Given the description of an element on the screen output the (x, y) to click on. 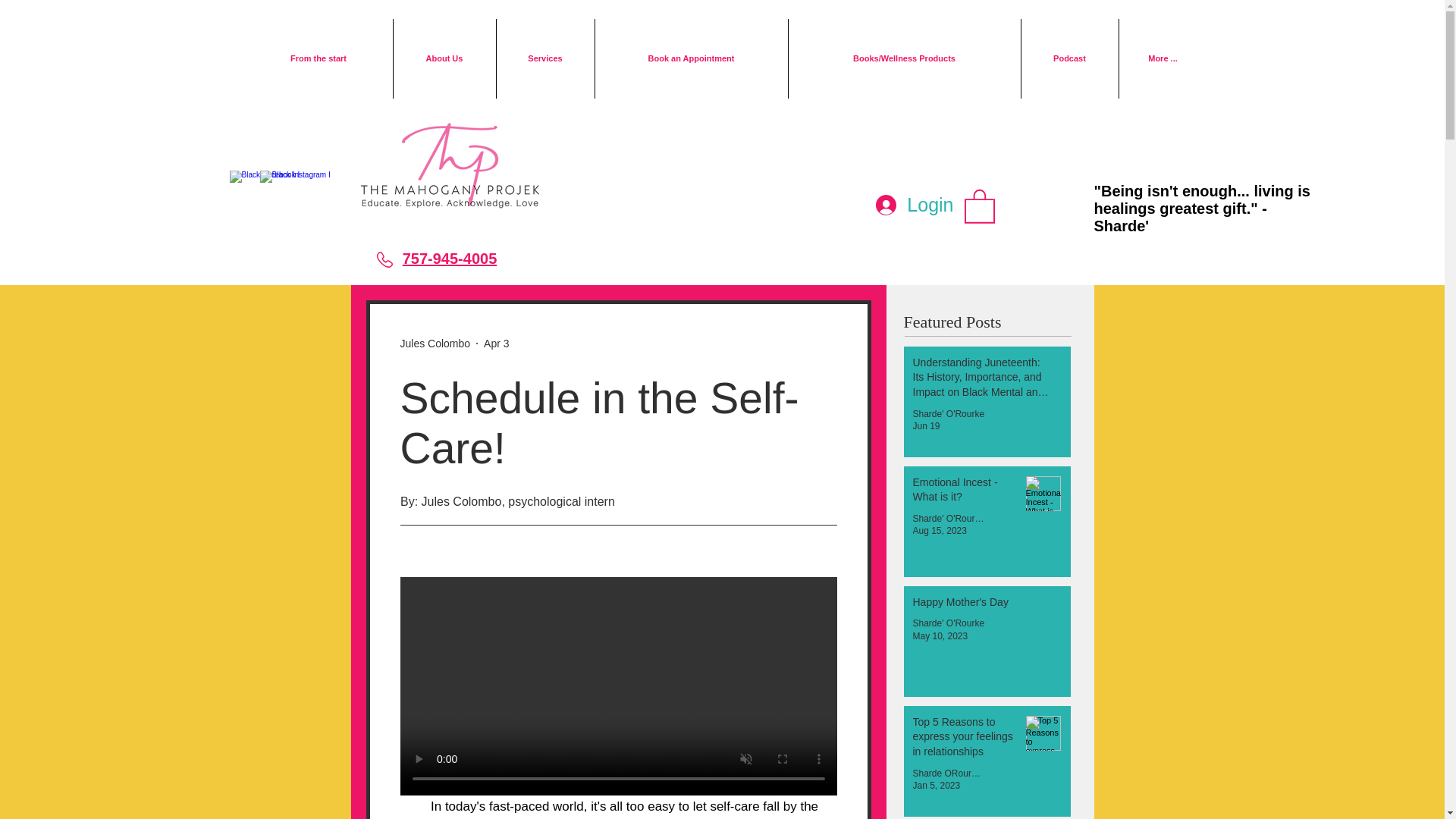
Aug 15, 2023 (939, 530)
757-945-4005 (450, 258)
Apr 3 (495, 342)
From the start (317, 58)
Services (545, 58)
Jun 19 (926, 425)
Sharde' O'Rourke (948, 518)
Jules Colombo (435, 342)
May 10, 2023 (940, 635)
Login (913, 204)
Sharde ORourke, LPC, LMFT, LSATP, CCTP, SAP (948, 773)
About Us (444, 58)
Podcast (1069, 58)
Sharde' O'Rourke (948, 623)
Book an Appointment (690, 58)
